Given the description of an element on the screen output the (x, y) to click on. 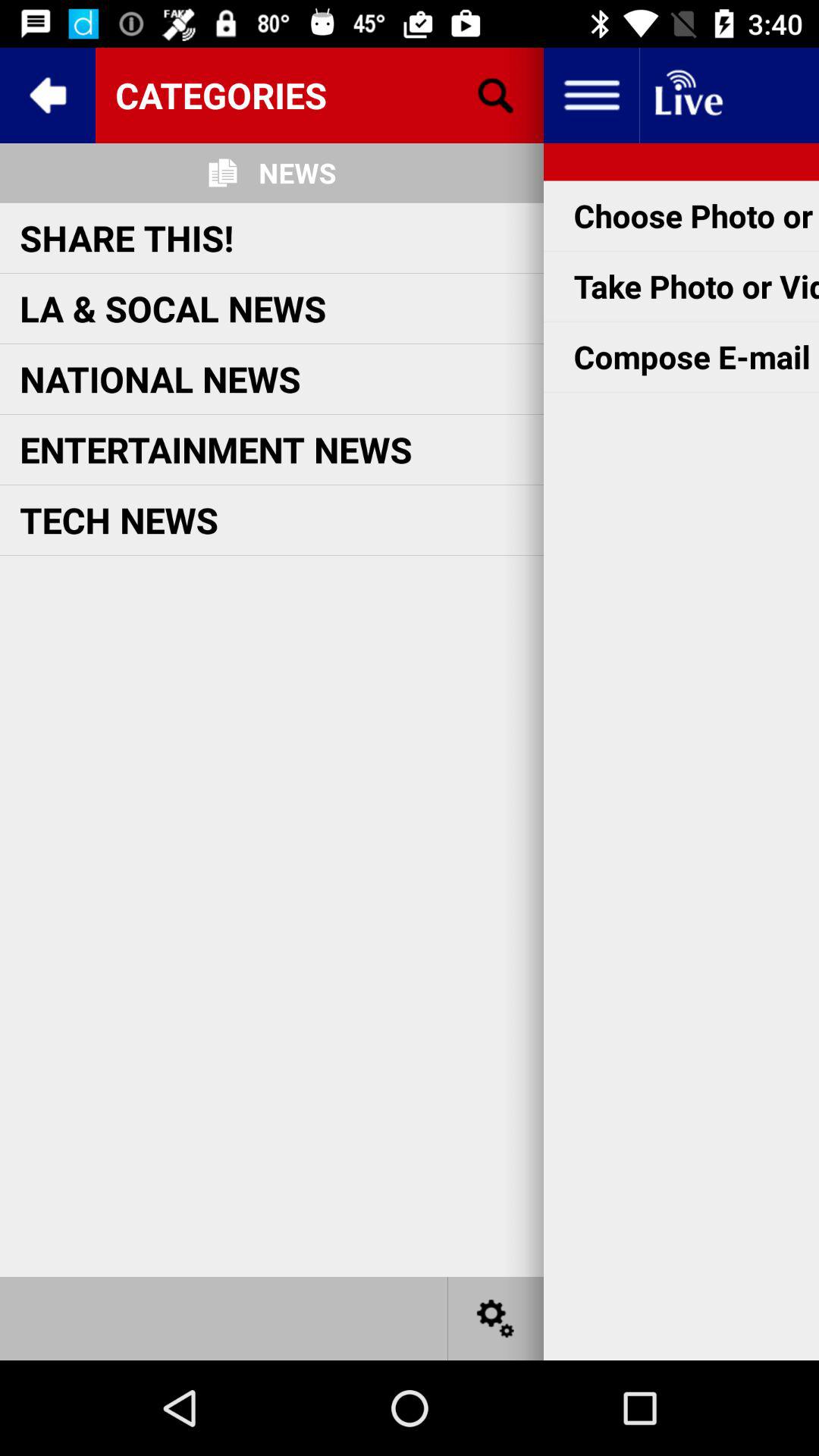
swipe until entertainment news (215, 449)
